Given the description of an element on the screen output the (x, y) to click on. 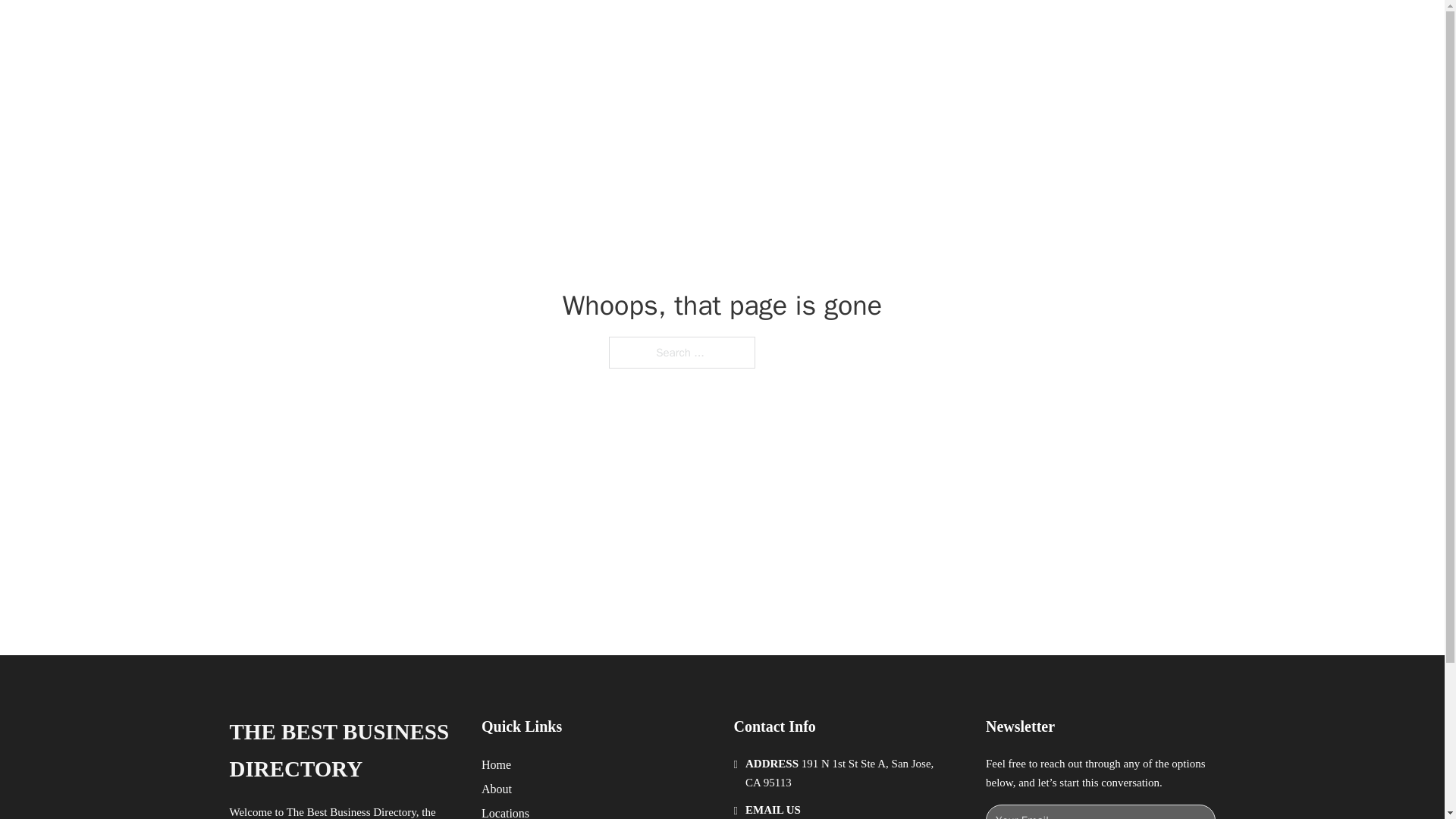
About (496, 788)
HOME (919, 29)
THE BEST BUSINESS DIRECTORY (343, 750)
Home (496, 764)
Locations (505, 811)
LOCATIONS (990, 29)
THE BEST BUSINESS DIRECTORY (468, 28)
